Given the description of an element on the screen output the (x, y) to click on. 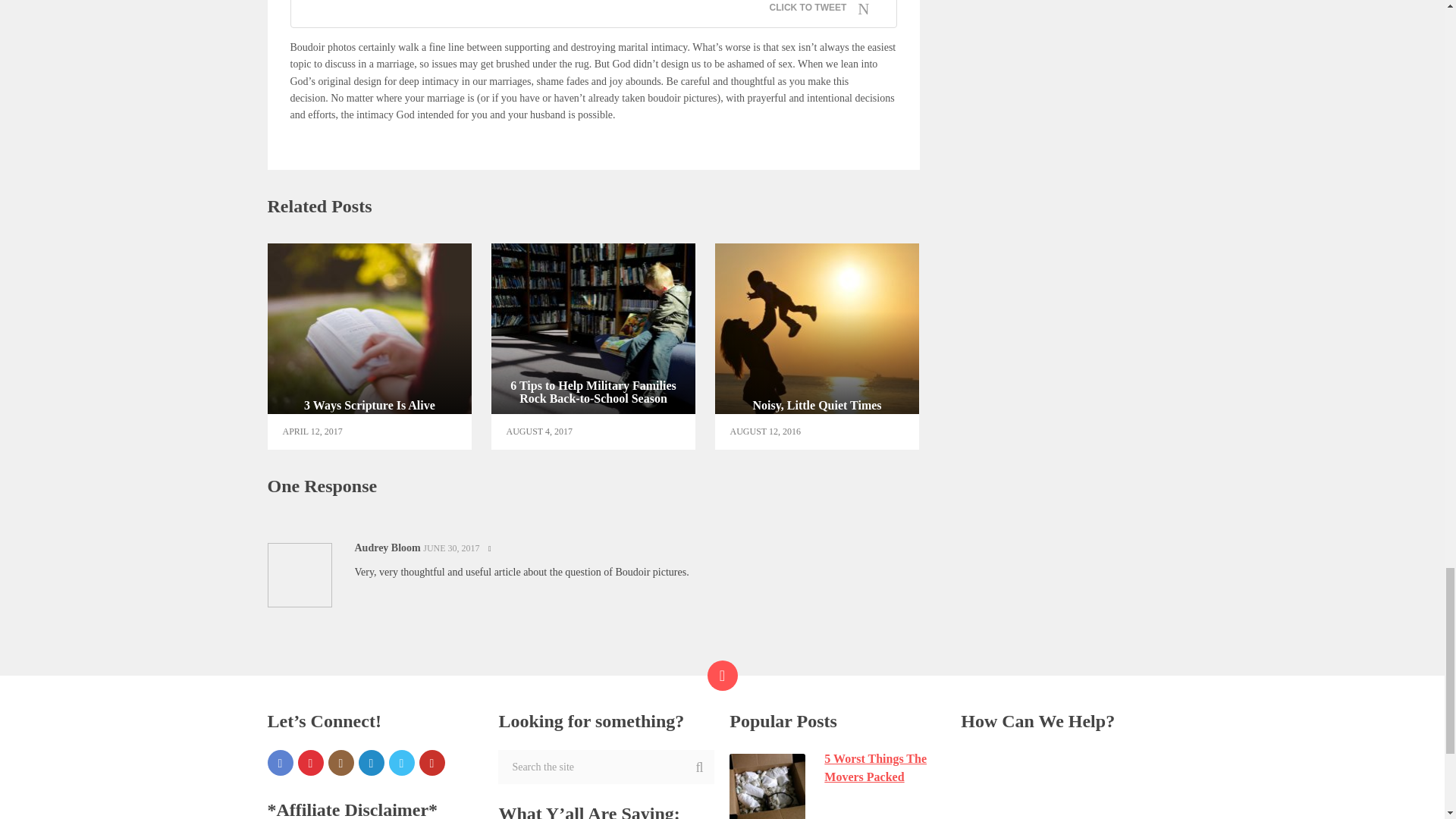
GET TO KNOW US (1024, 758)
5 Worst Things The Movers Packed (836, 768)
Instagram (340, 762)
Facebook (279, 762)
6 Tips to Help Military Families Rock Back-to-School Season (368, 346)
Noisy, Little Quiet Times (593, 346)
3 Ways Scripture Is Alive (817, 346)
Pinterest (817, 346)
